Given the description of an element on the screen output the (x, y) to click on. 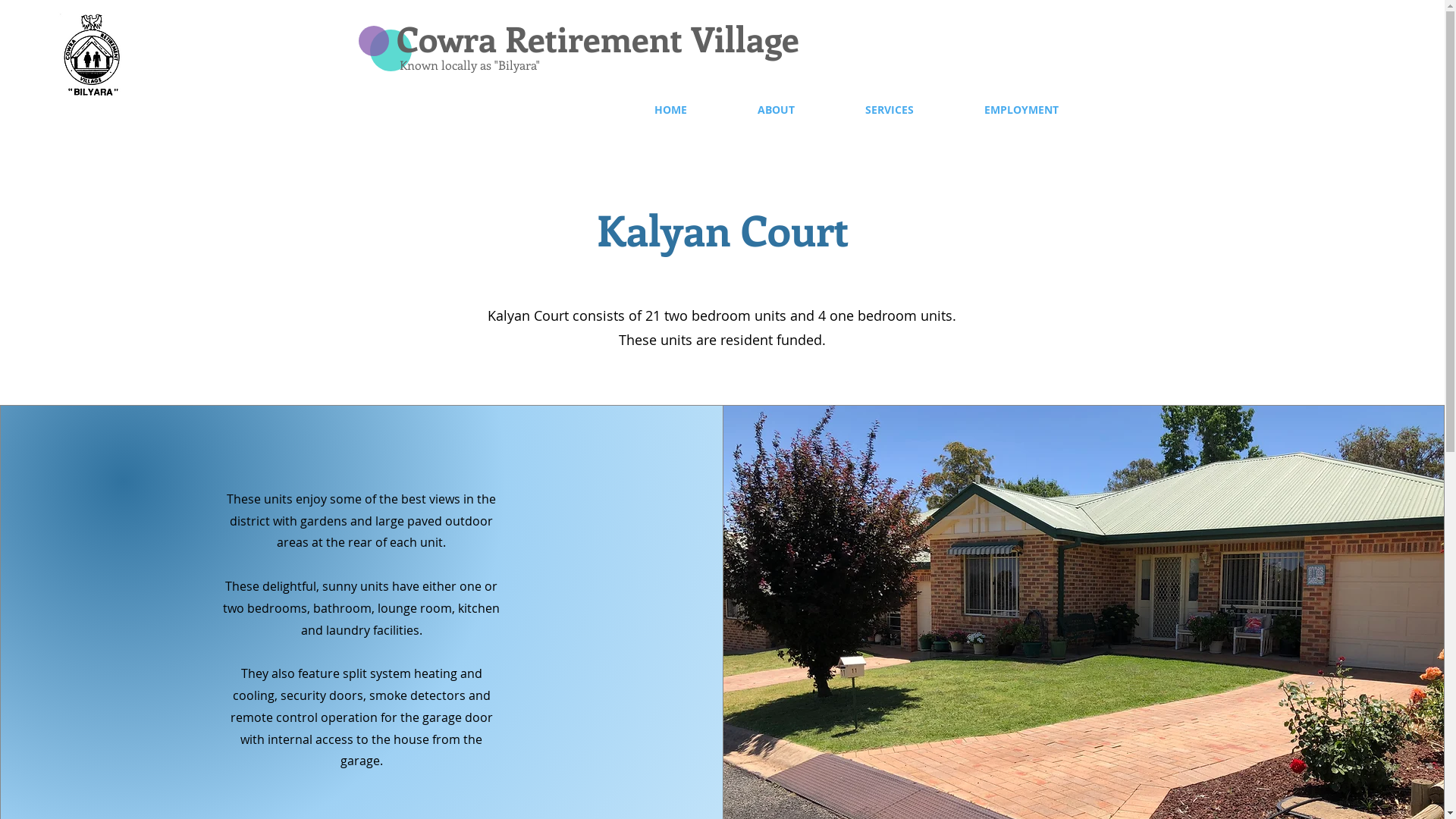
SERVICES Element type: text (888, 109)
EMPLOYMENT Element type: text (1021, 109)
HOME Element type: text (669, 109)
ABOUT Element type: text (775, 109)
